Given the description of an element on the screen output the (x, y) to click on. 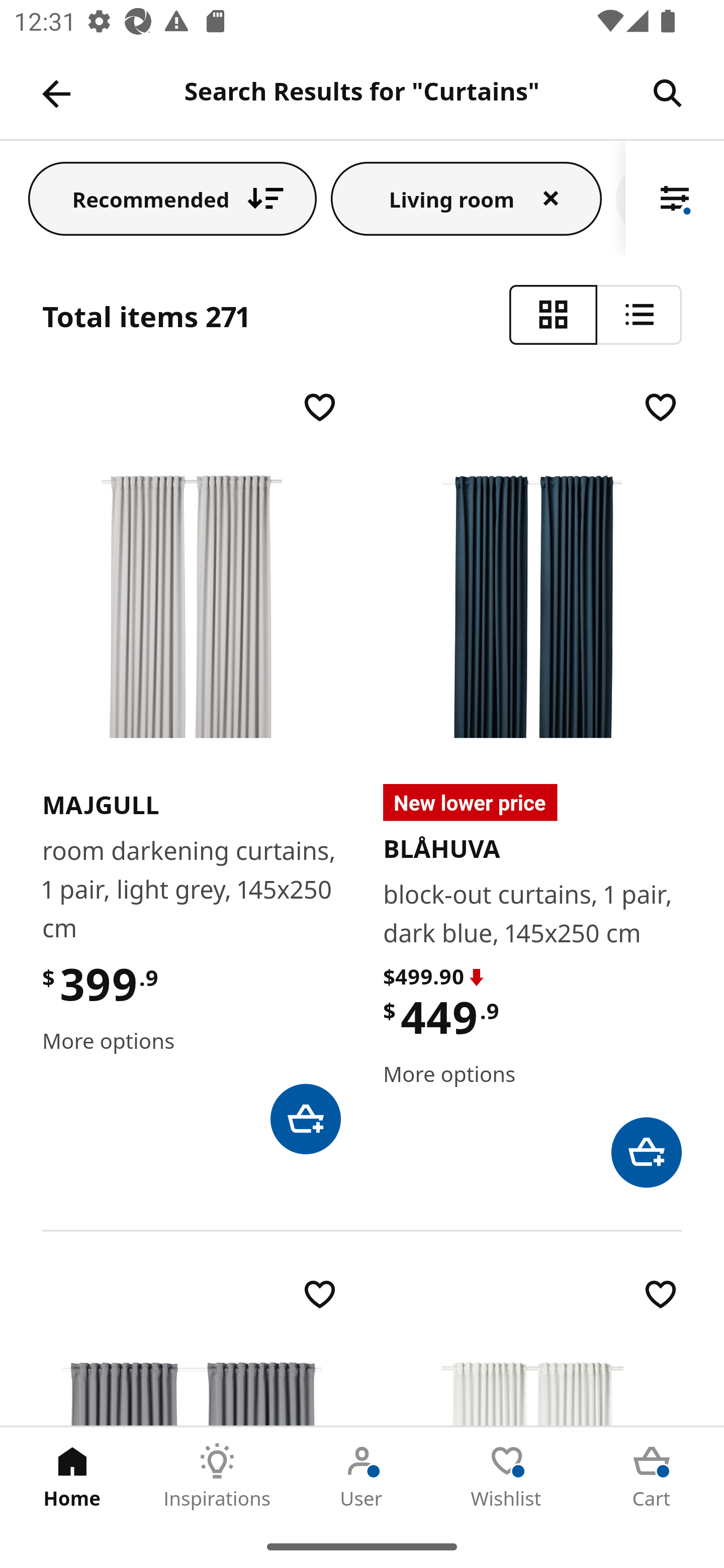
Recommended (172, 198)
Living room (465, 198)
Home
Tab 1 of 5 (72, 1476)
Inspirations
Tab 2 of 5 (216, 1476)
User
Tab 3 of 5 (361, 1476)
Wishlist
Tab 4 of 5 (506, 1476)
Cart
Tab 5 of 5 (651, 1476)
